Given the description of an element on the screen output the (x, y) to click on. 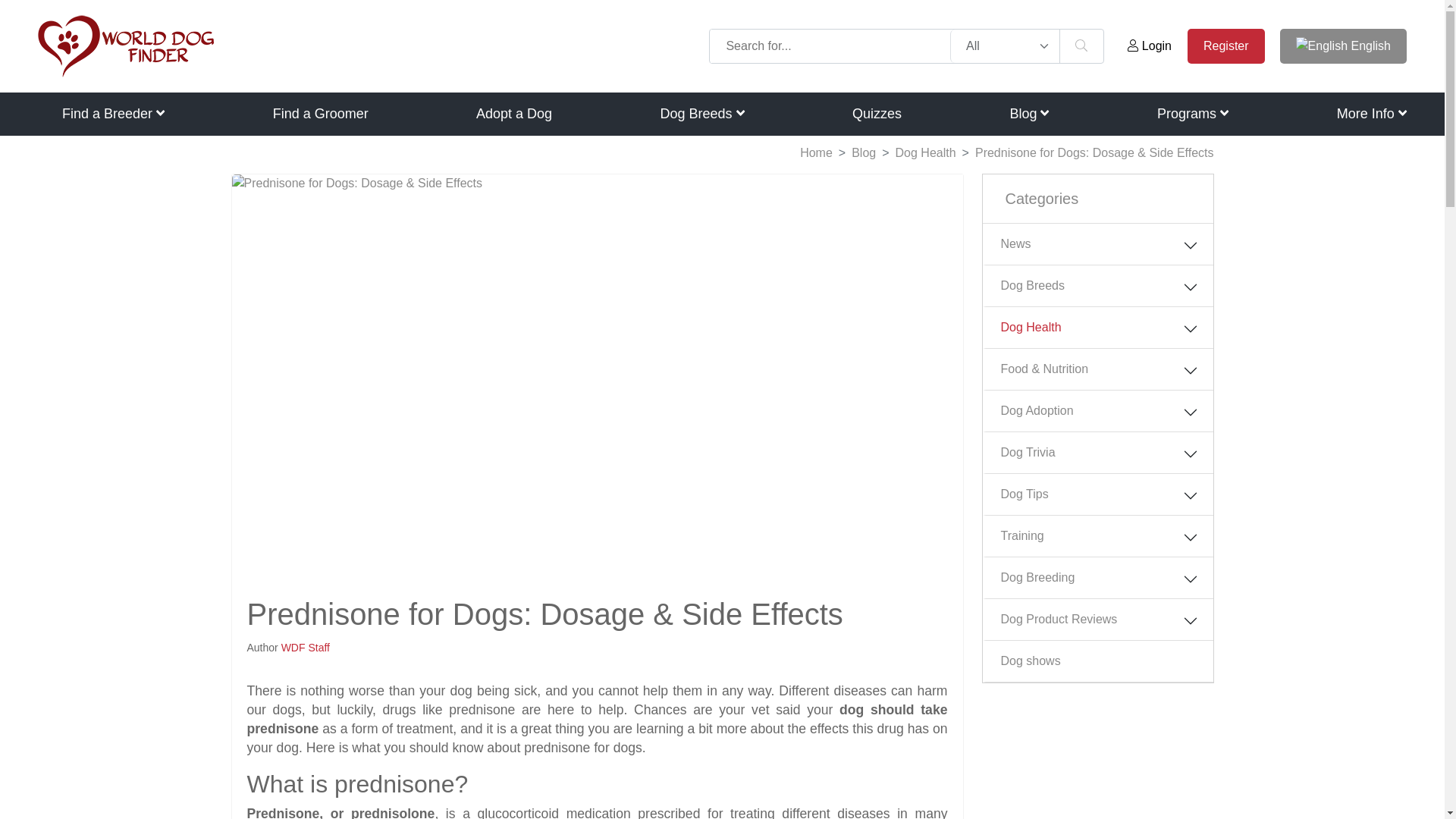
Find a Groomer (320, 113)
Quizzes (876, 113)
Find a Breeder (113, 113)
Blog (1028, 113)
Dog Breeds (701, 113)
Login (1150, 45)
English (1342, 46)
Adopt a Dog (513, 113)
Register (1226, 45)
